Given the description of an element on the screen output the (x, y) to click on. 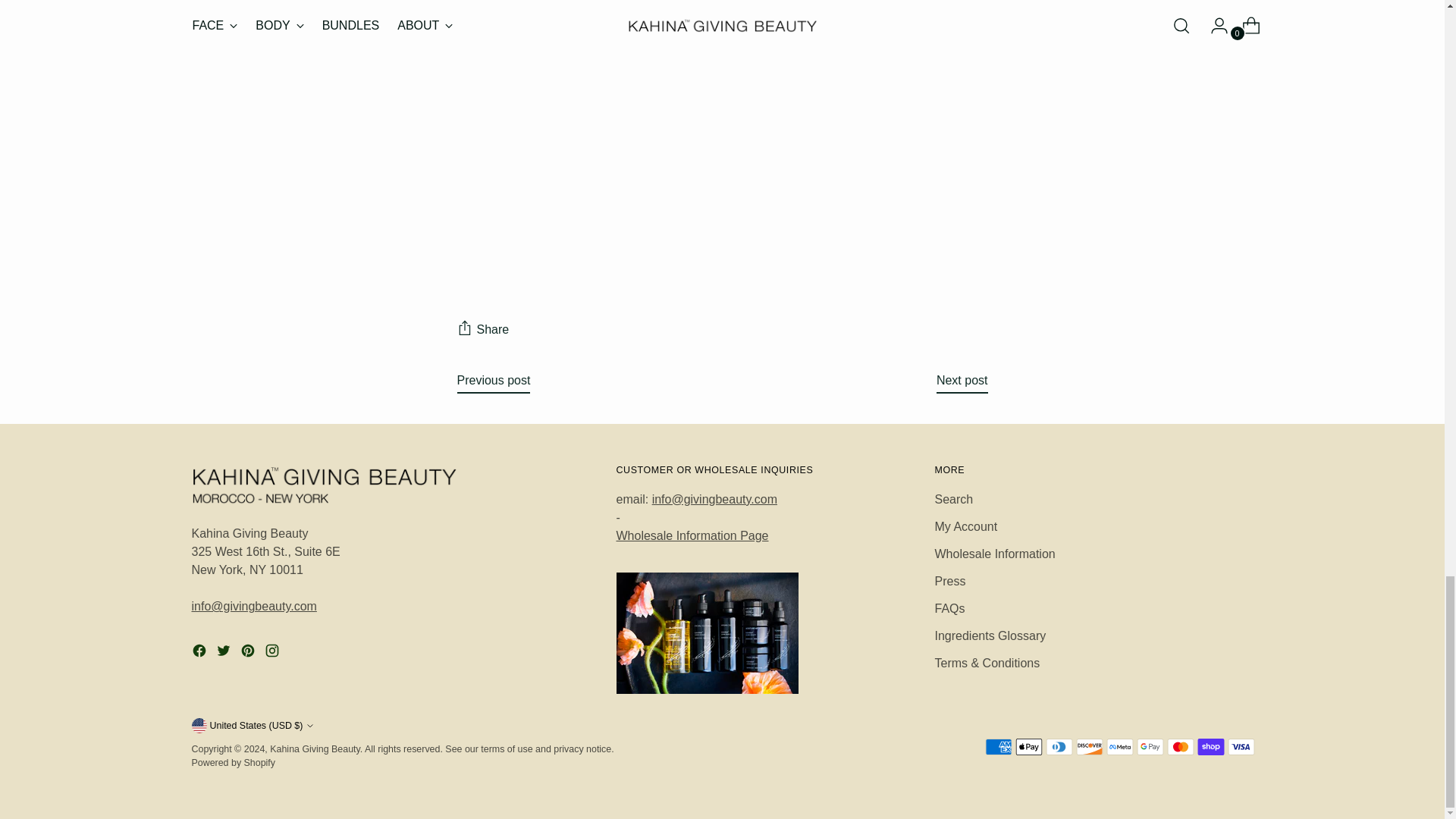
Kahina Giving Beauty on Pinterest (248, 652)
Wholesale Information (691, 535)
Kahina Giving Beauty on Facebook (199, 652)
Kahina Giving Beauty on Twitter (223, 652)
Kahina Giving Beauty on Instagram (272, 652)
